Given the description of an element on the screen output the (x, y) to click on. 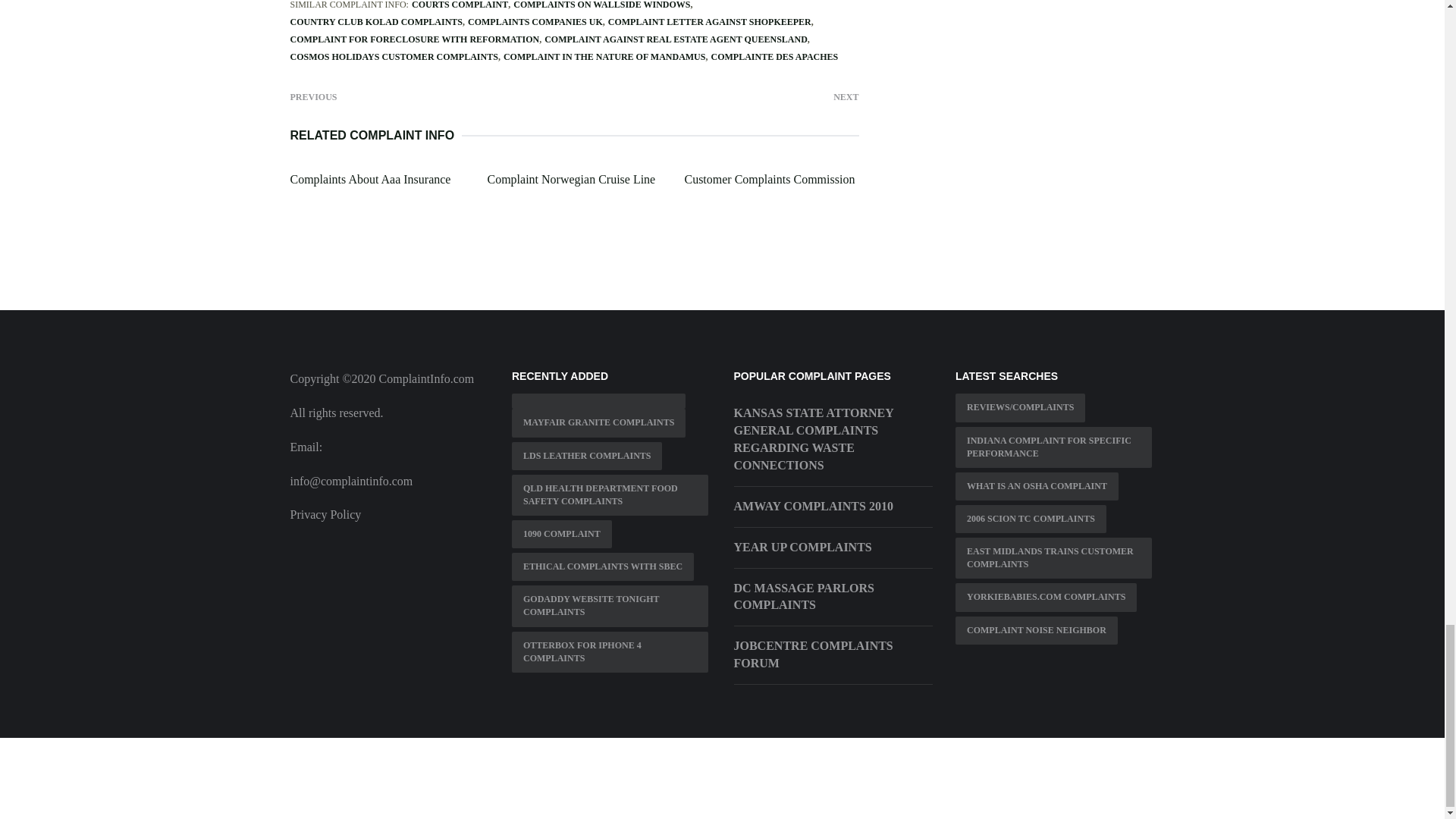
COMPLAINTS COMPANIES UK (534, 21)
COMPLAINT LETTER AGAINST SHOPKEEPER (709, 21)
COMPLAINT FOR FORECLOSURE WITH REFORMATION (413, 39)
COMPLAINT AGAINST REAL ESTATE AGENT QUEENSLAND (676, 39)
COMPLAINT IN THE NATURE OF MANDAMUS (604, 56)
COUNTRY CLUB KOLAD COMPLAINTS (375, 21)
COURTS COMPLAINT (460, 4)
COMPLAINTS ON WALLSIDE WINDOWS (601, 4)
COSMOS HOLIDAYS CUSTOMER COMPLAINTS (393, 56)
